Given the description of an element on the screen output the (x, y) to click on. 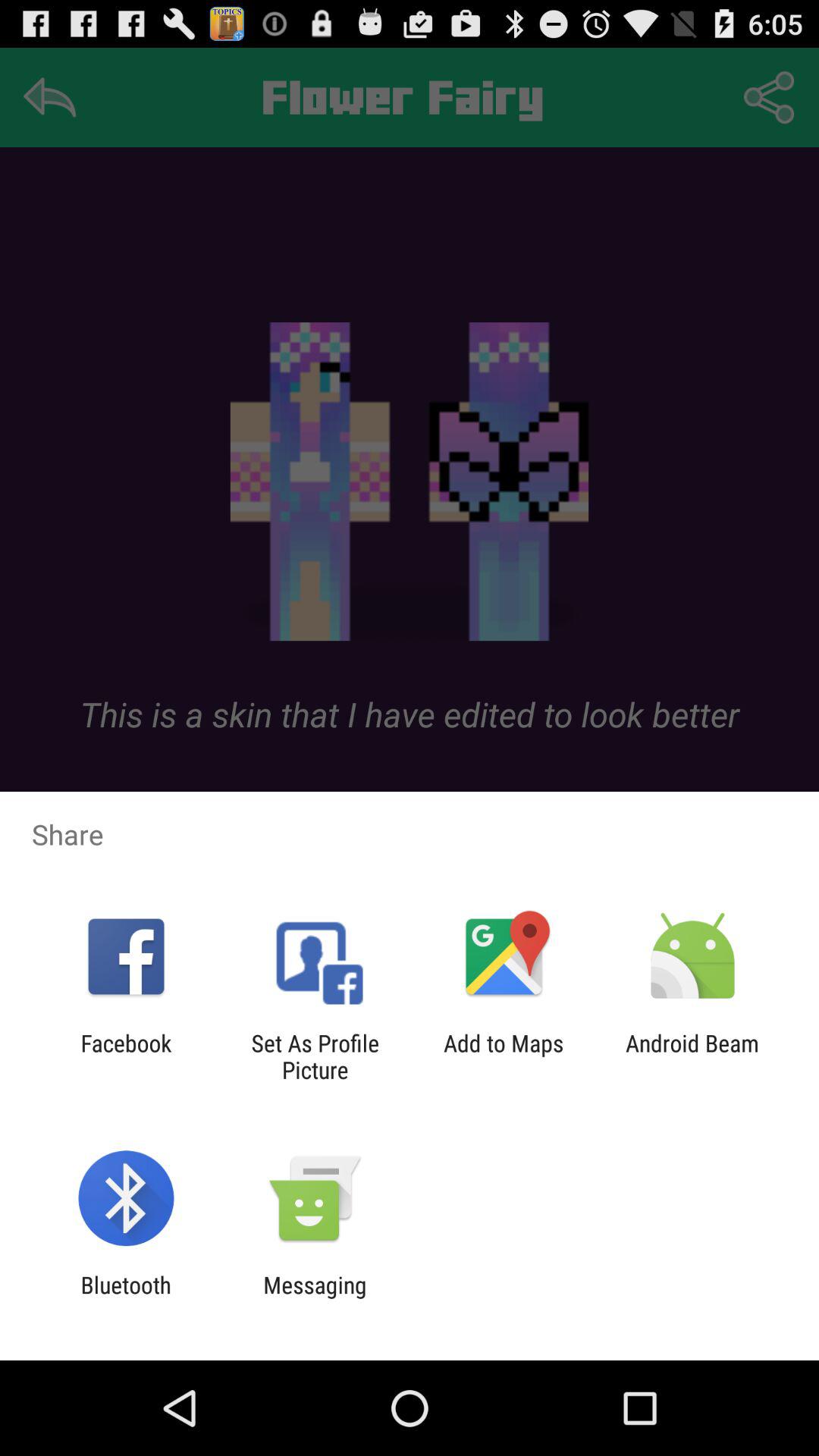
tap the item to the right of the bluetooth (314, 1298)
